Given the description of an element on the screen output the (x, y) to click on. 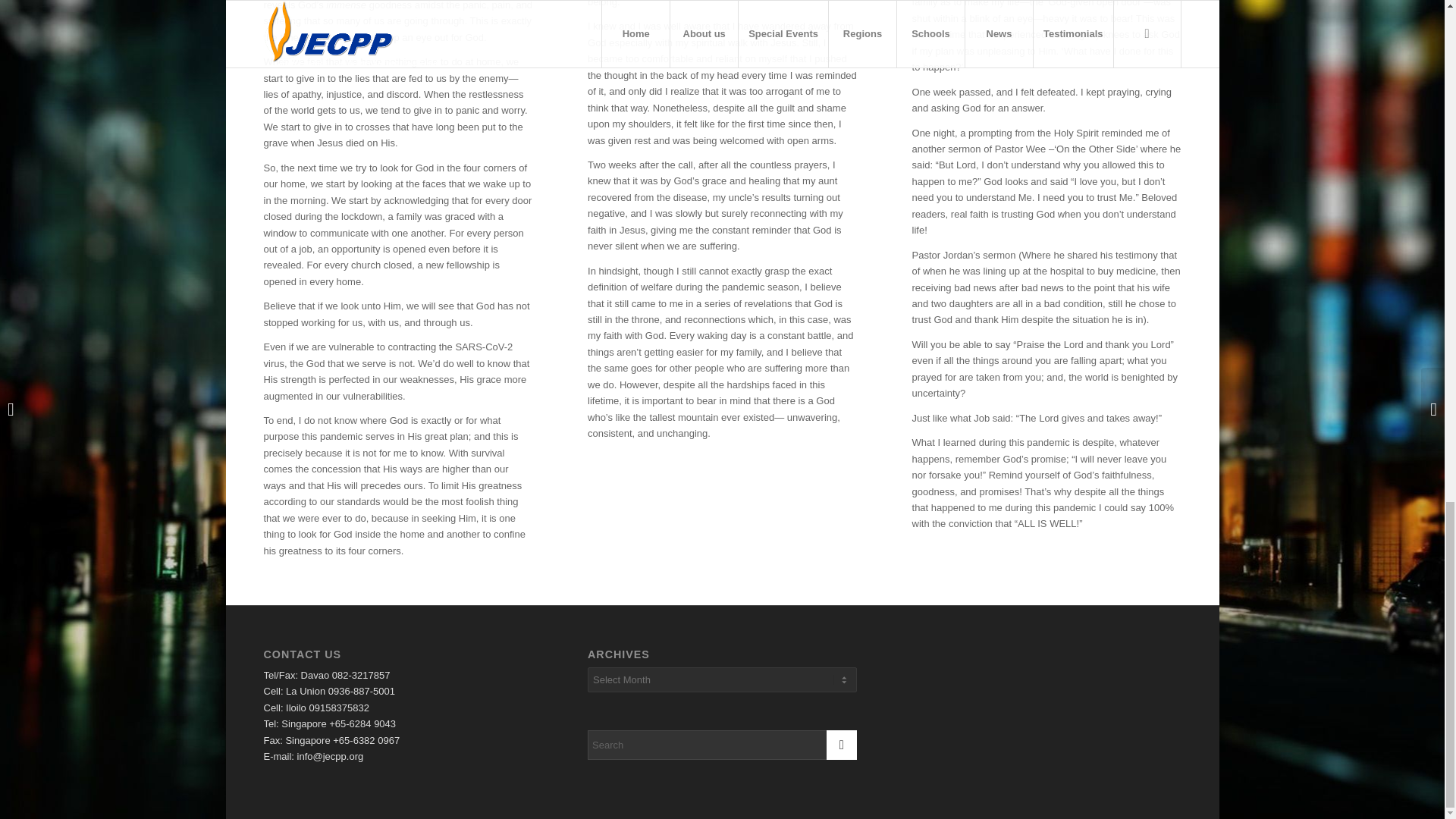
Click to start search (842, 745)
